Given the description of an element on the screen output the (x, y) to click on. 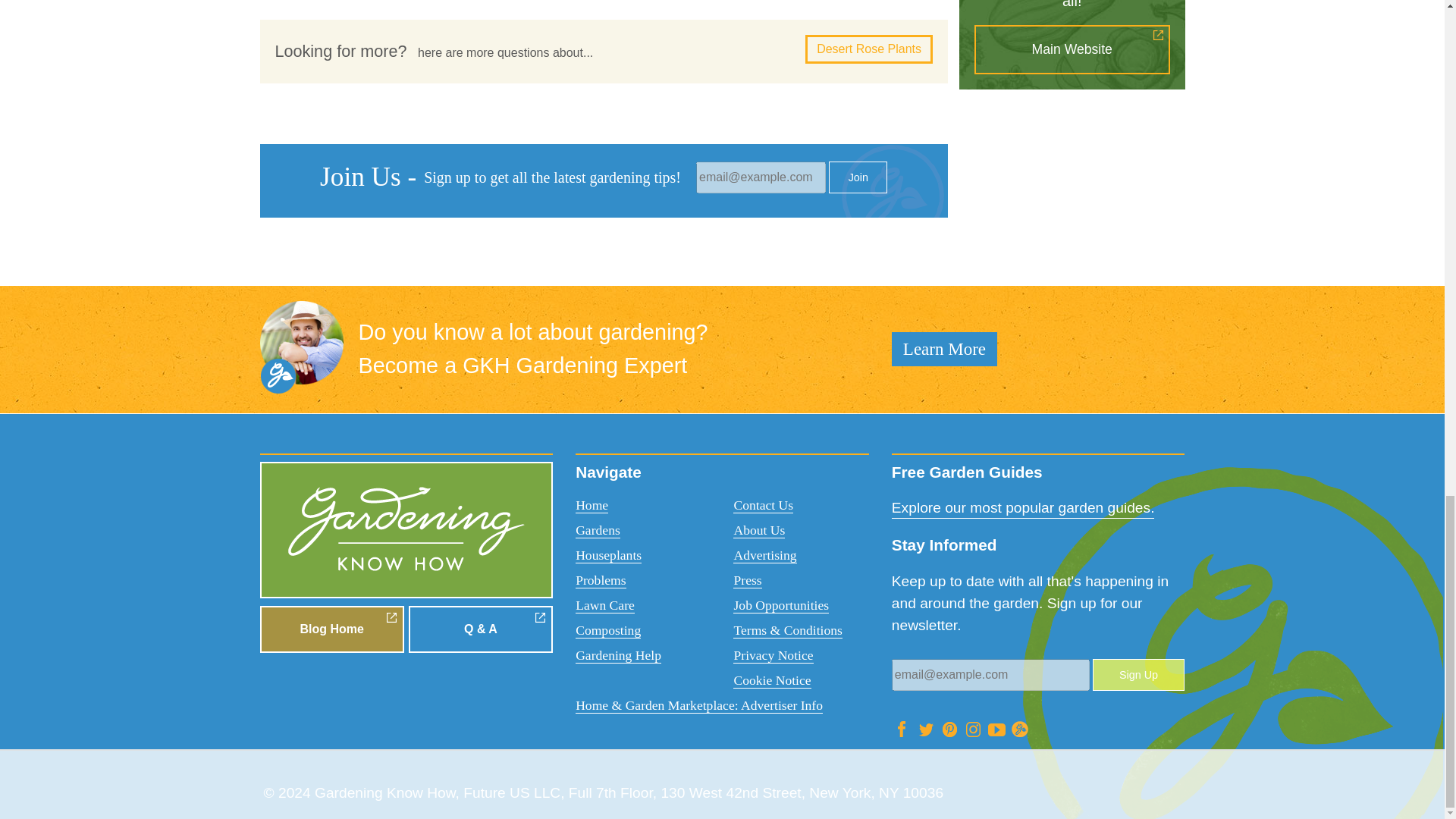
Desert Rose Plants (869, 49)
Join (857, 177)
